Given the description of an element on the screen output the (x, y) to click on. 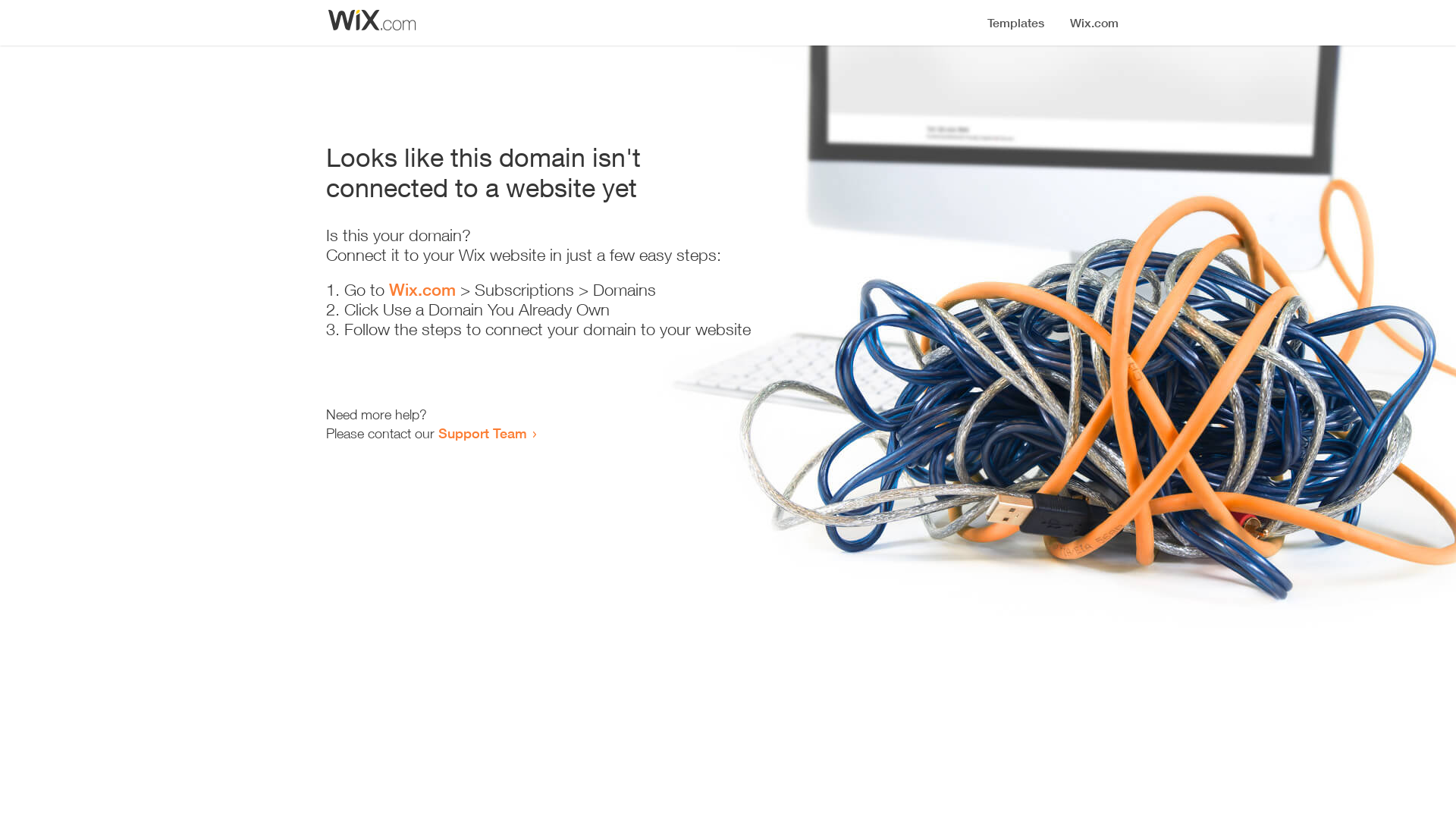
Support Team Element type: text (482, 432)
Wix.com Element type: text (422, 289)
